Given the description of an element on the screen output the (x, y) to click on. 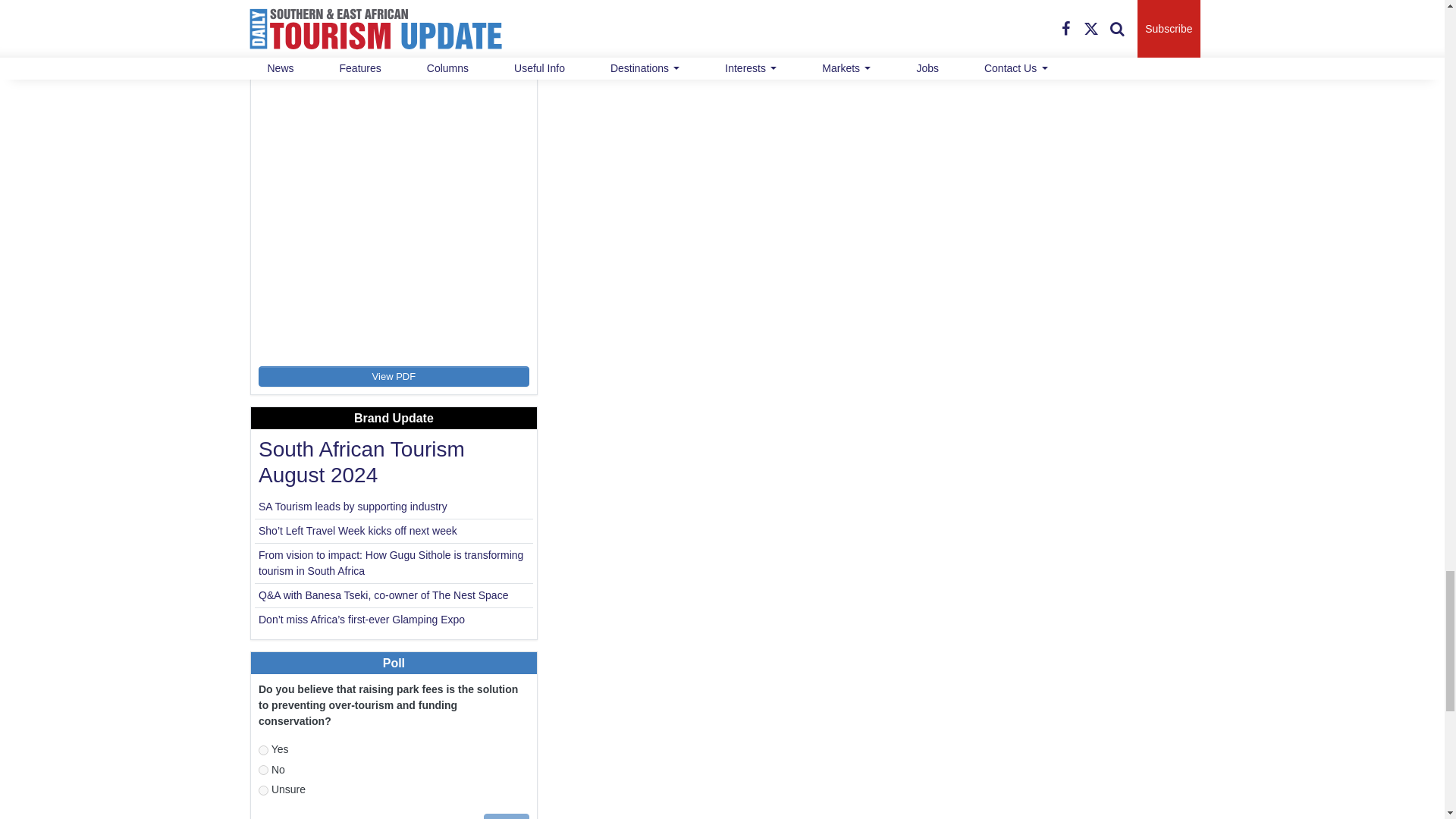
Vote (506, 816)
7a12e1e3c (263, 790)
100ff54c58 (263, 769)
46ac9d54b (263, 750)
